Given the description of an element on the screen output the (x, y) to click on. 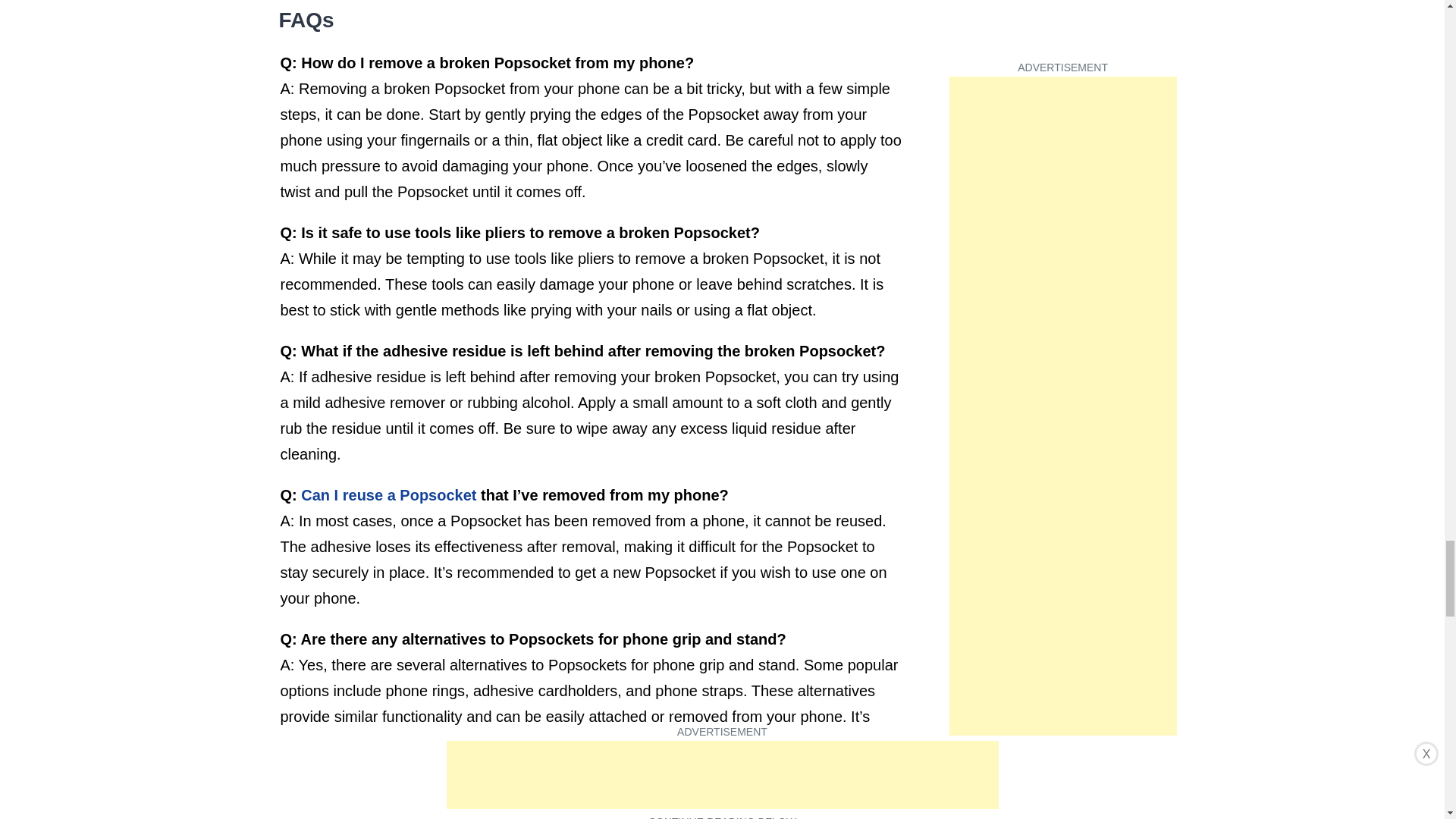
Can I reuse a Popsocket (388, 494)
